Given the description of an element on the screen output the (x, y) to click on. 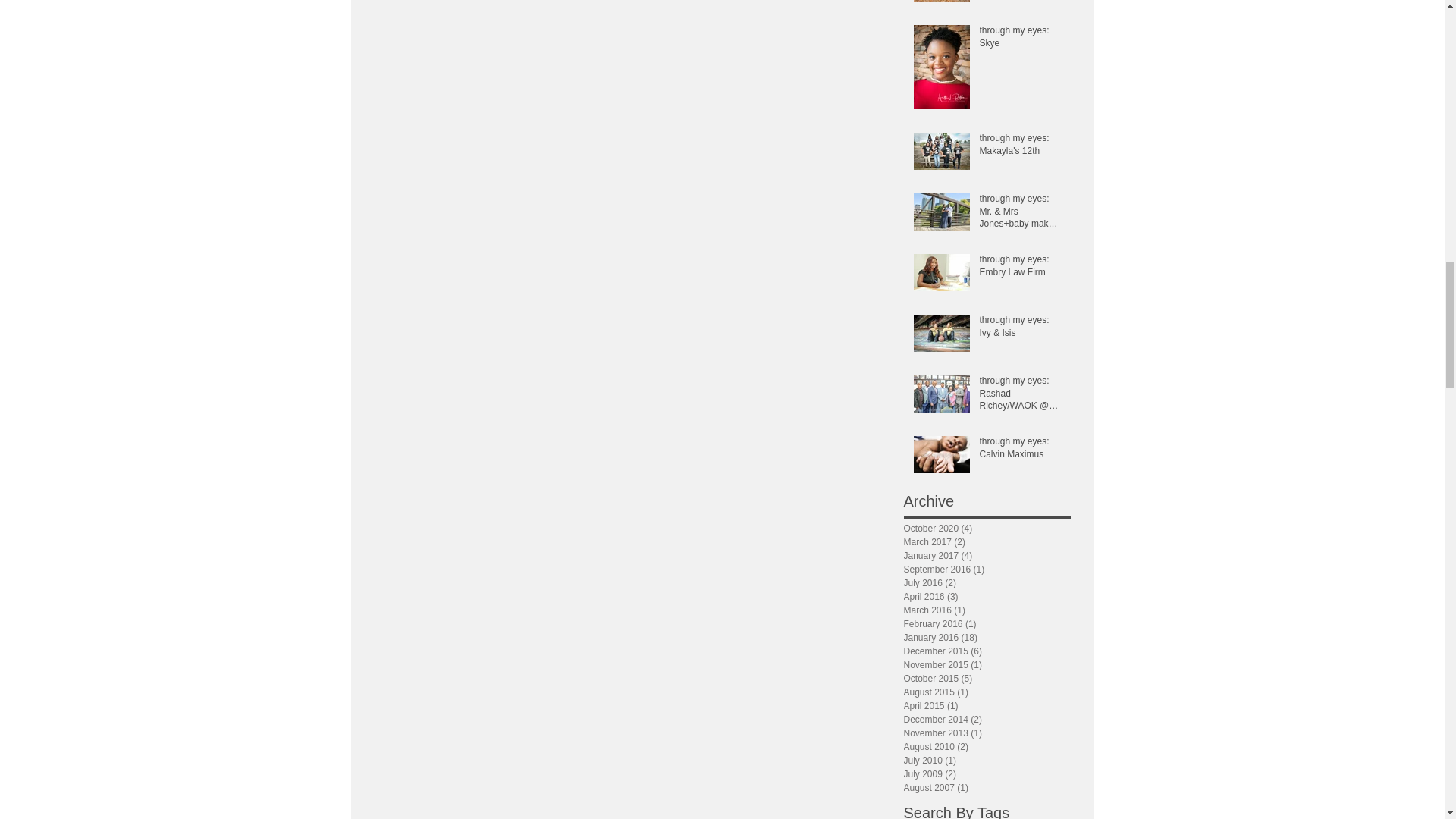
through my eyes: Calvin Maximus (1020, 450)
through my eyes: Skye (1020, 40)
through my eyes: Makayla's 12th (1020, 147)
through my eyes: Embry Law Firm (1020, 269)
